Given the description of an element on the screen output the (x, y) to click on. 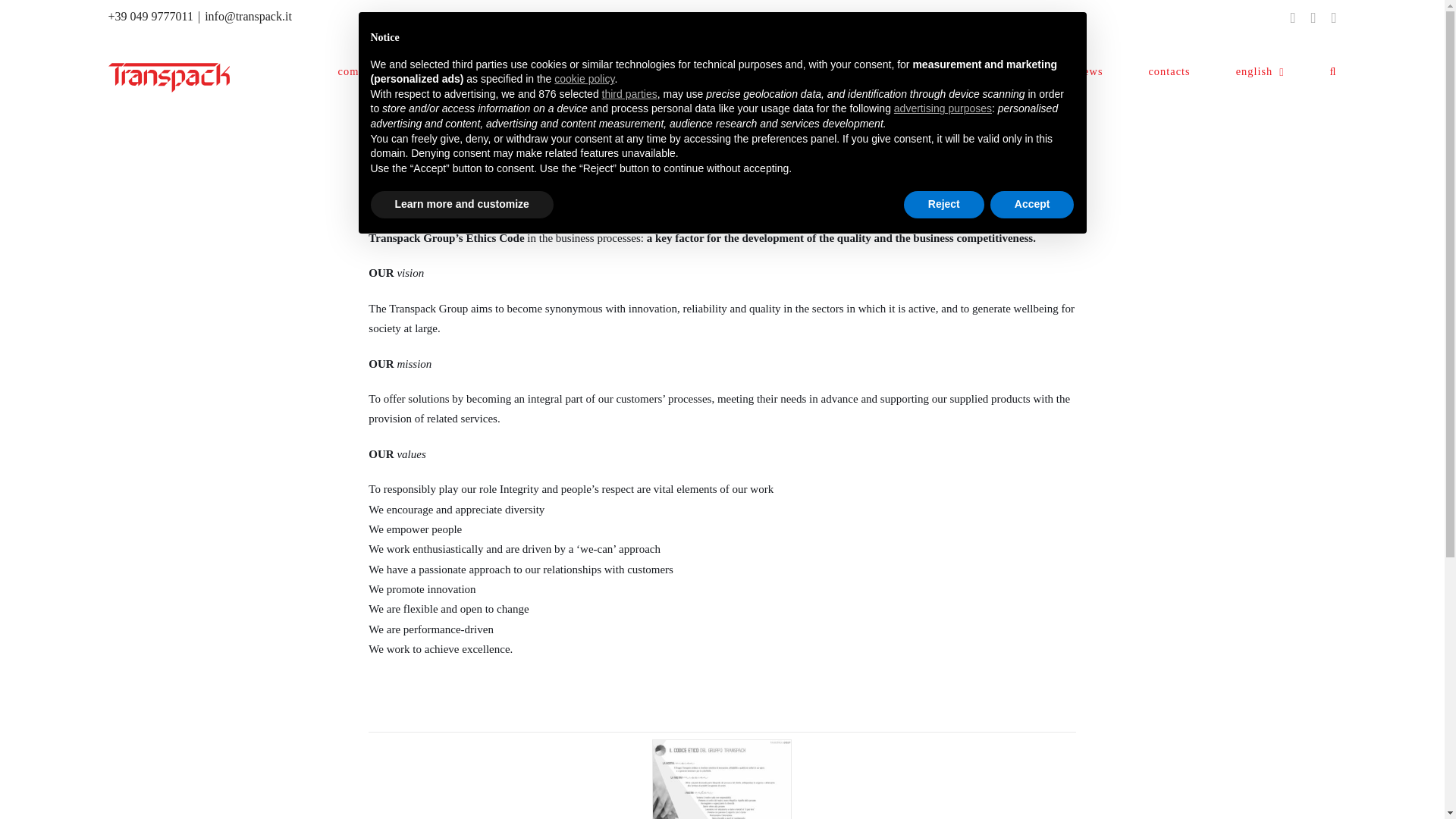
logistics services (760, 71)
transpack group (468, 71)
english (1260, 71)
it solutions (884, 71)
certifications (997, 71)
industrial packaging (613, 71)
